Given the description of an element on the screen output the (x, y) to click on. 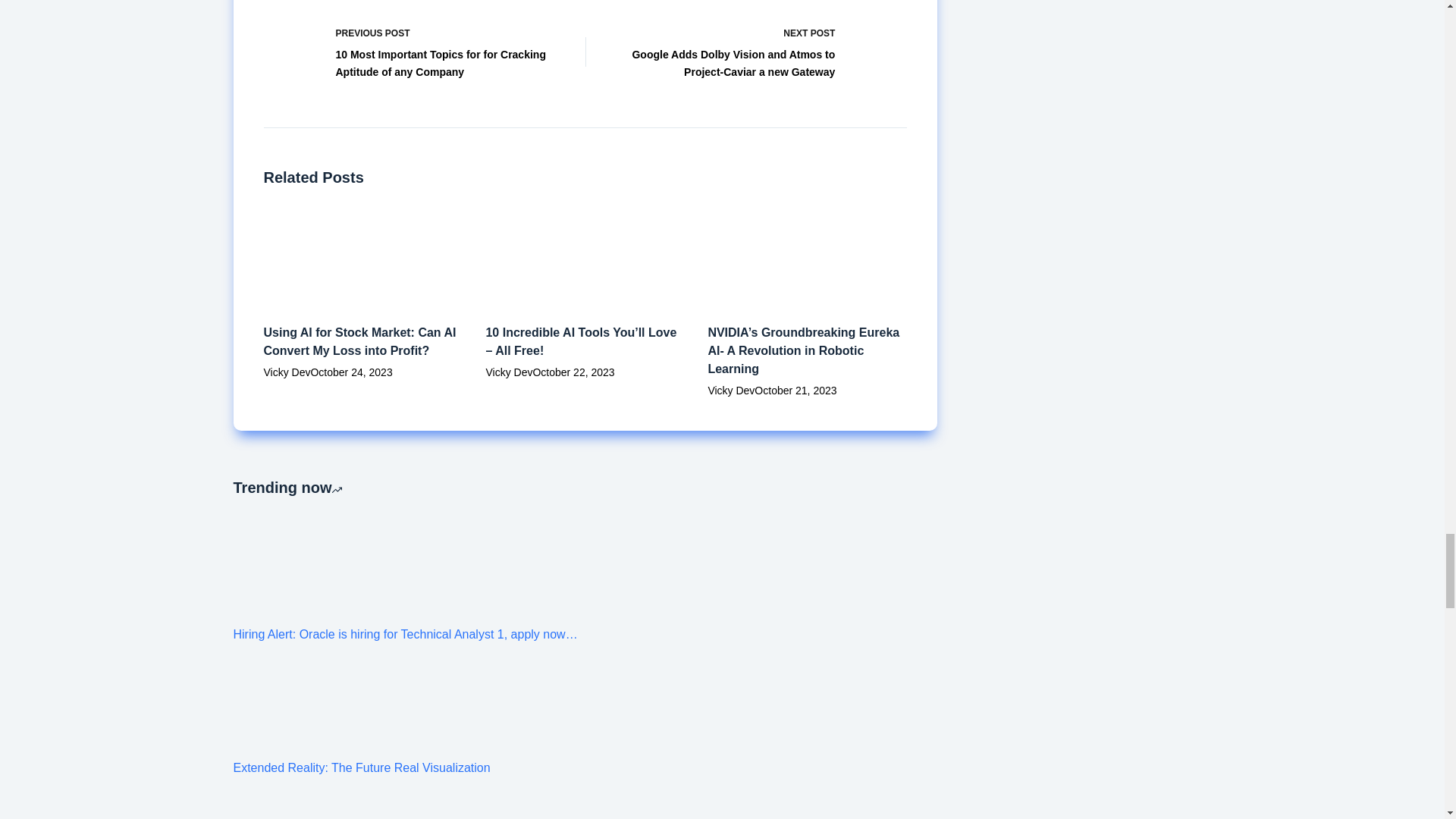
Posts by Vicky Dev (730, 390)
Posts by Vicky Dev (508, 372)
Posts by Vicky Dev (287, 372)
